Given the description of an element on the screen output the (x, y) to click on. 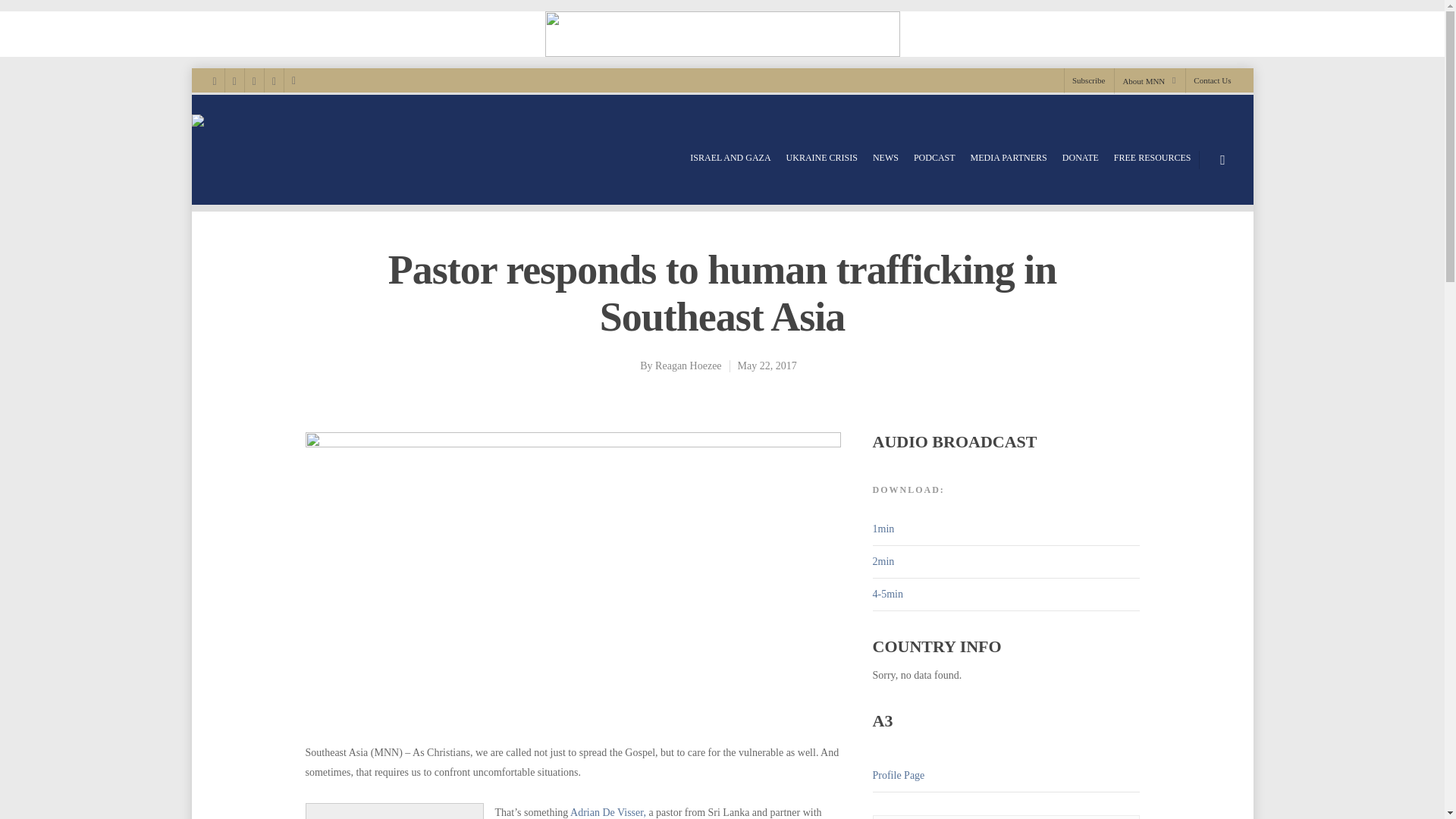
About MNN (1148, 80)
Contact Us (1207, 80)
Reagan Hoezee (687, 365)
Subscribe (1088, 80)
ISRAEL AND GAZA (730, 157)
Posts by Reagan Hoezee (687, 365)
Adrian De Visser, (608, 812)
